Given the description of an element on the screen output the (x, y) to click on. 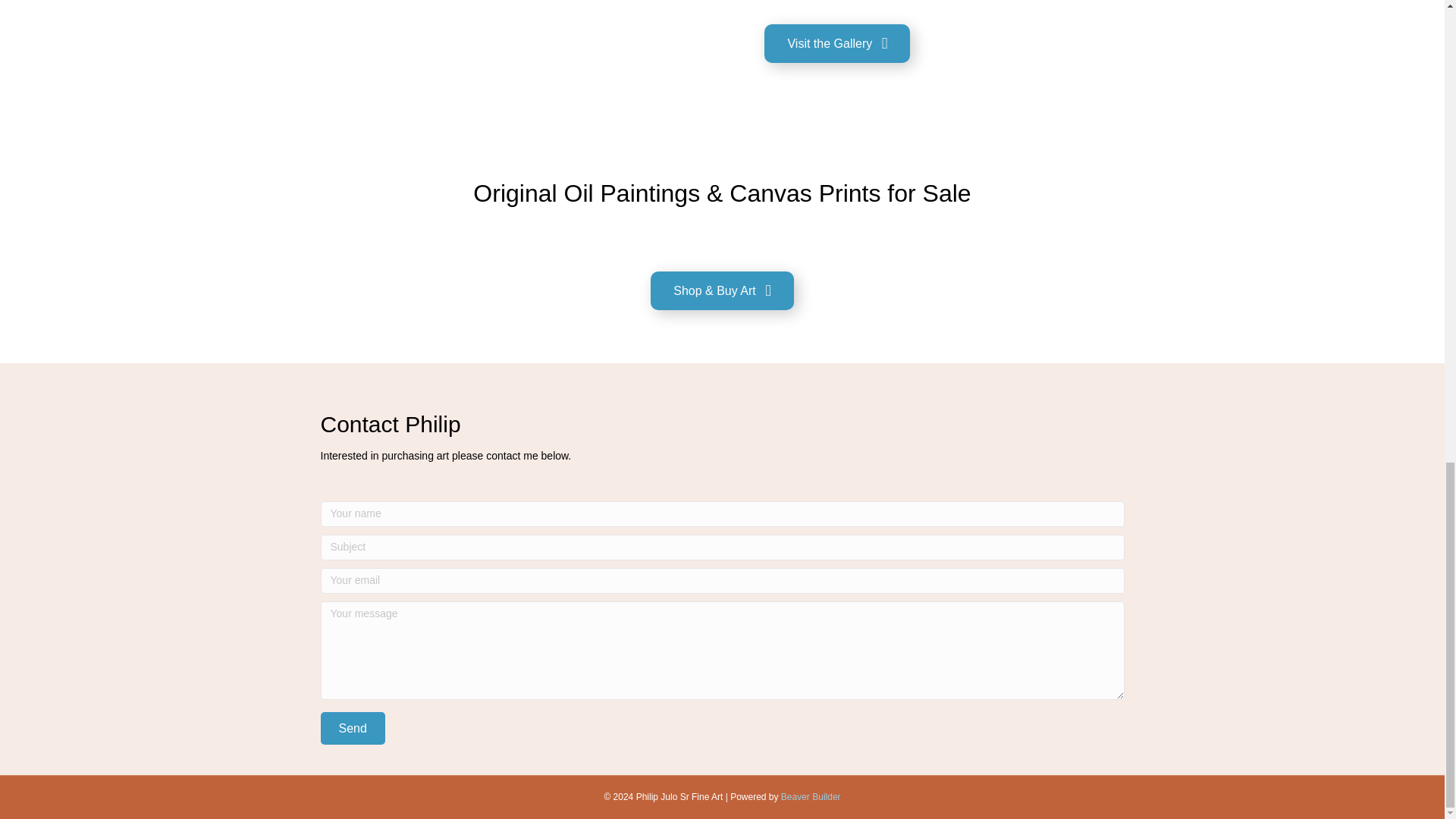
Visit the Gallery (837, 43)
Beaver Builder (810, 796)
Send (352, 727)
WordPress Page Builder Plugin (810, 796)
